Given the description of an element on the screen output the (x, y) to click on. 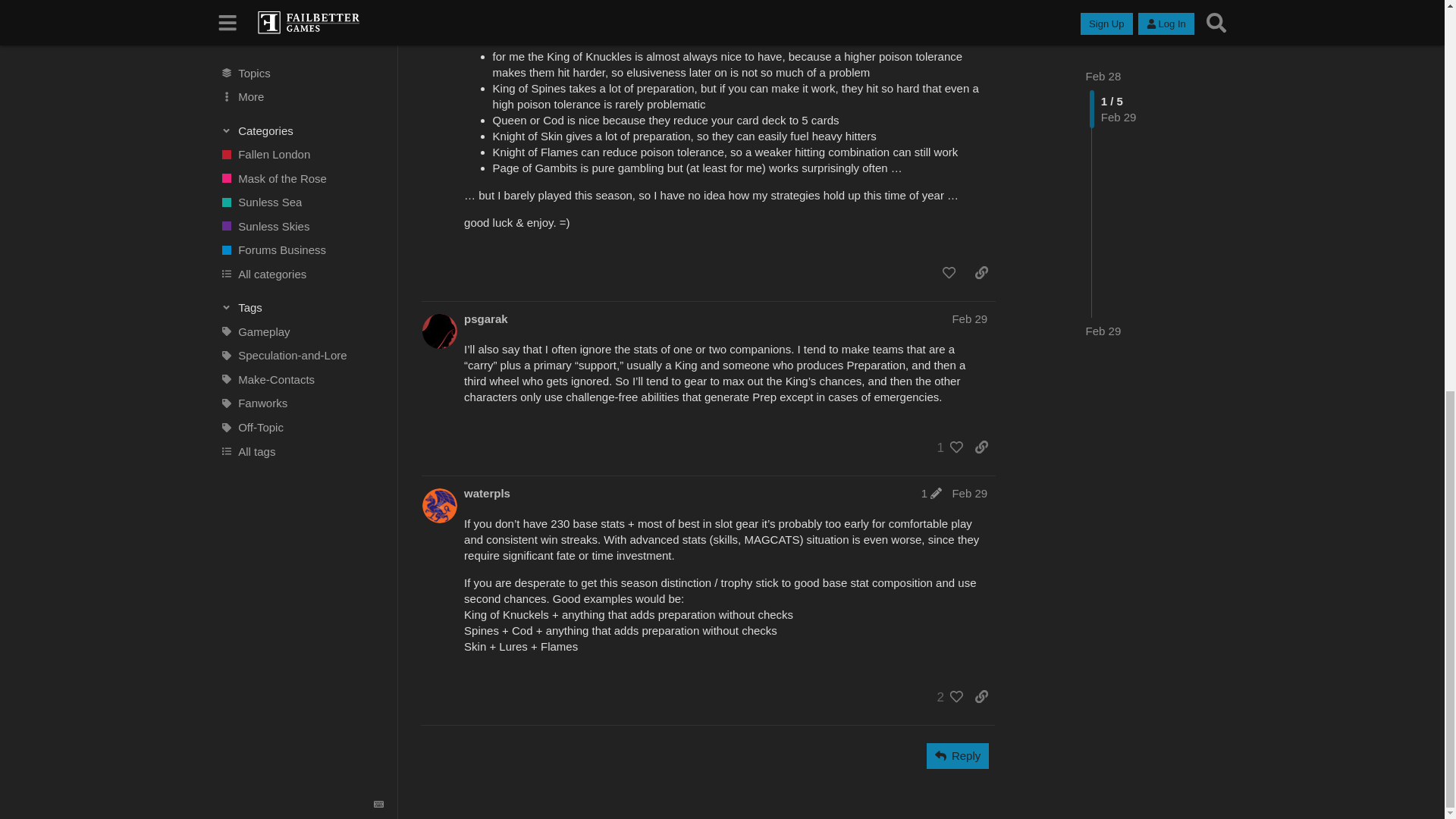
Keyboard Shortcuts (378, 56)
